Given the description of an element on the screen output the (x, y) to click on. 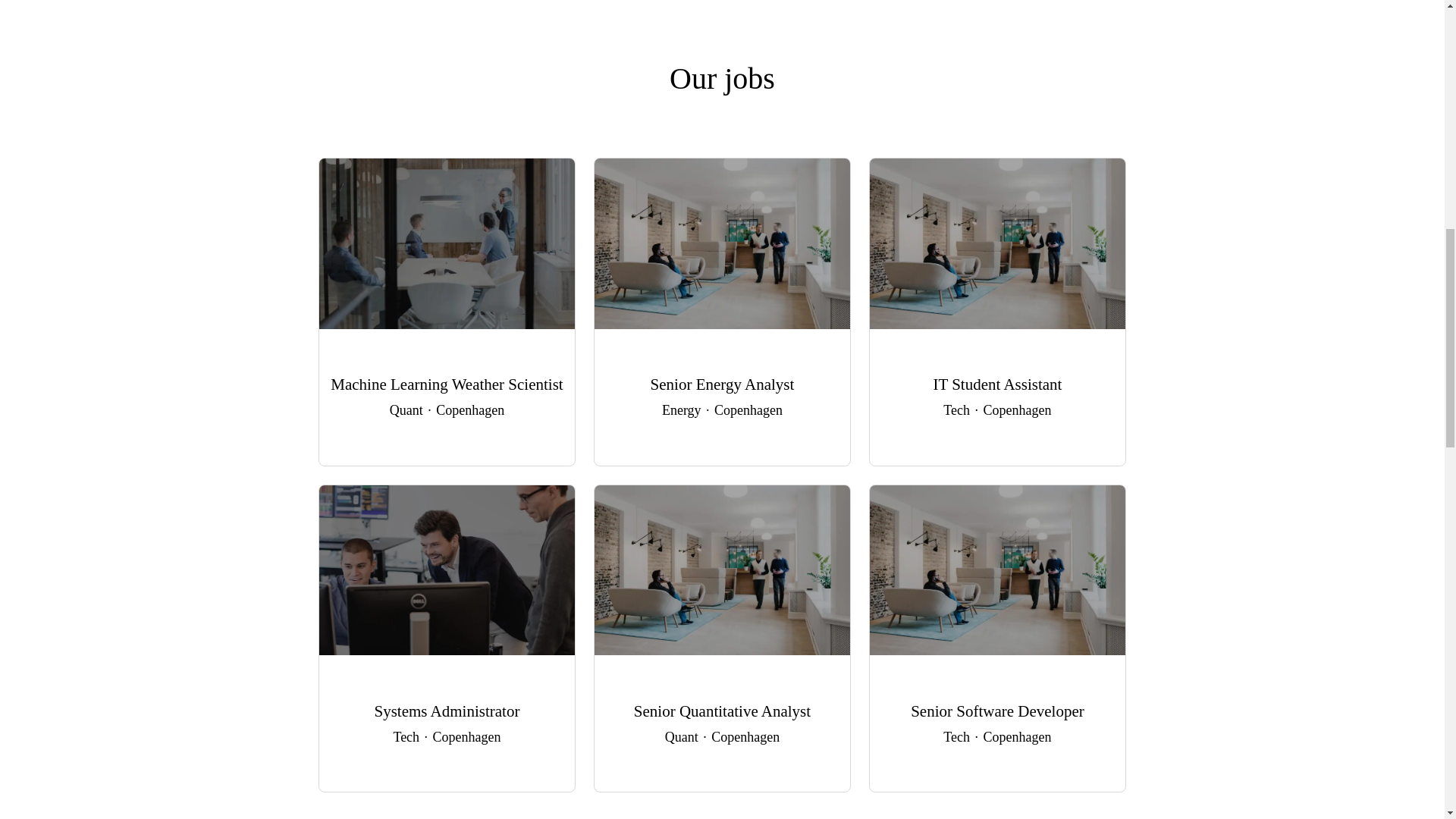
Machine Learning Weather Scientist (447, 385)
IT Student Assistant (997, 385)
Systems Administrator (447, 711)
Senior Software Developer (997, 711)
Senior Energy Analyst (722, 385)
Senior Quantitative Analyst (722, 711)
